Given the description of an element on the screen output the (x, y) to click on. 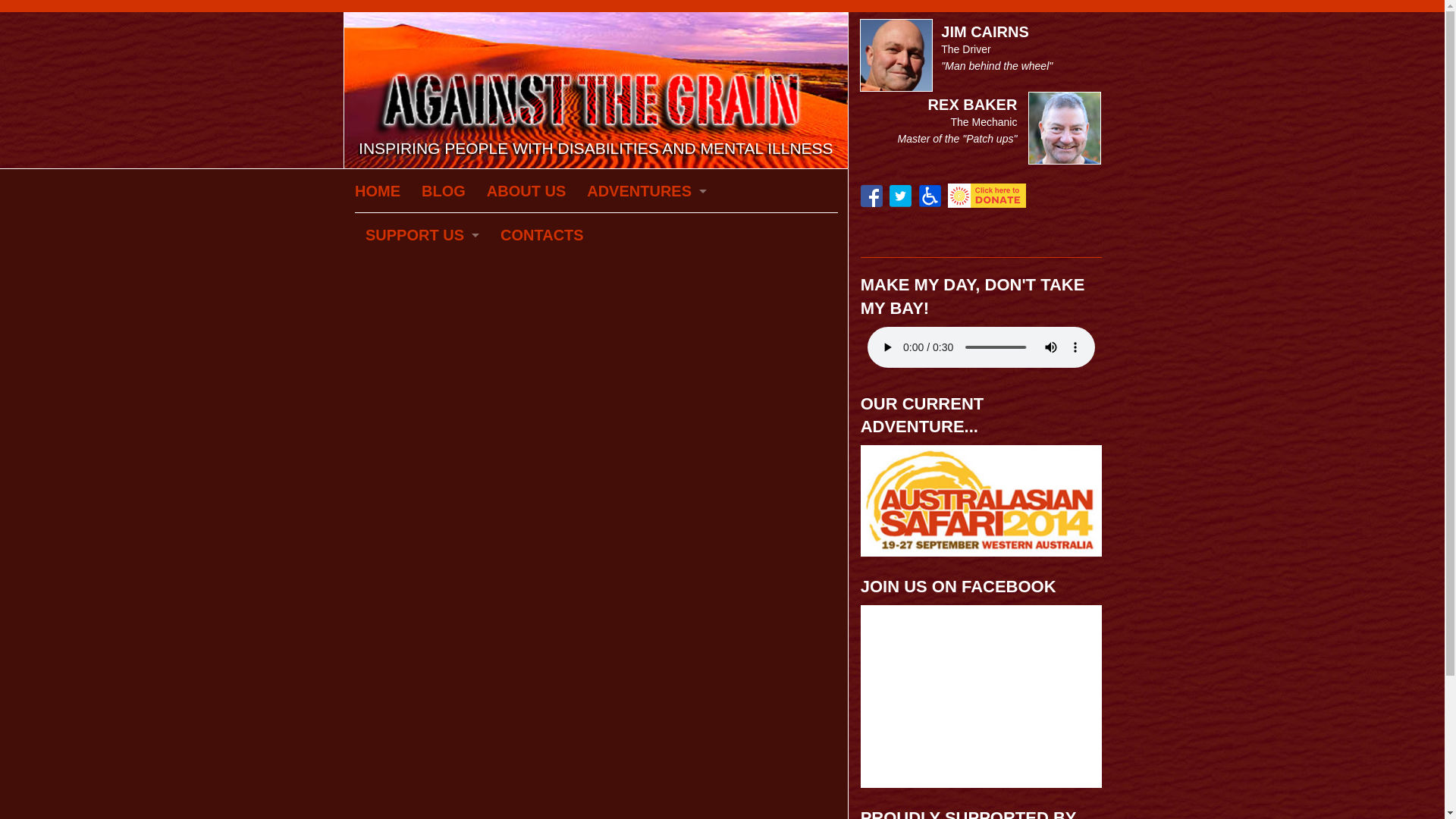
CONTACTS Element type: text (541, 235)
ADVENTURES Element type: text (646, 191)
SPONSORS Element type: text (422, 323)
ABOUT US Element type: text (526, 191)
BLOG Element type: text (443, 191)
HOME Element type: text (382, 191)
SUPPORT US Element type: text (421, 235)
SUPPORT Element type: text (422, 279)
AUSTRALASIAN SAFARI Element type: text (646, 235)
INSPIRING PEOPLE WITH DISABILITIES AND MENTAL ILLNESS Element type: text (596, 88)
THE RIDE Element type: text (646, 279)
